Given the description of an element on the screen output the (x, y) to click on. 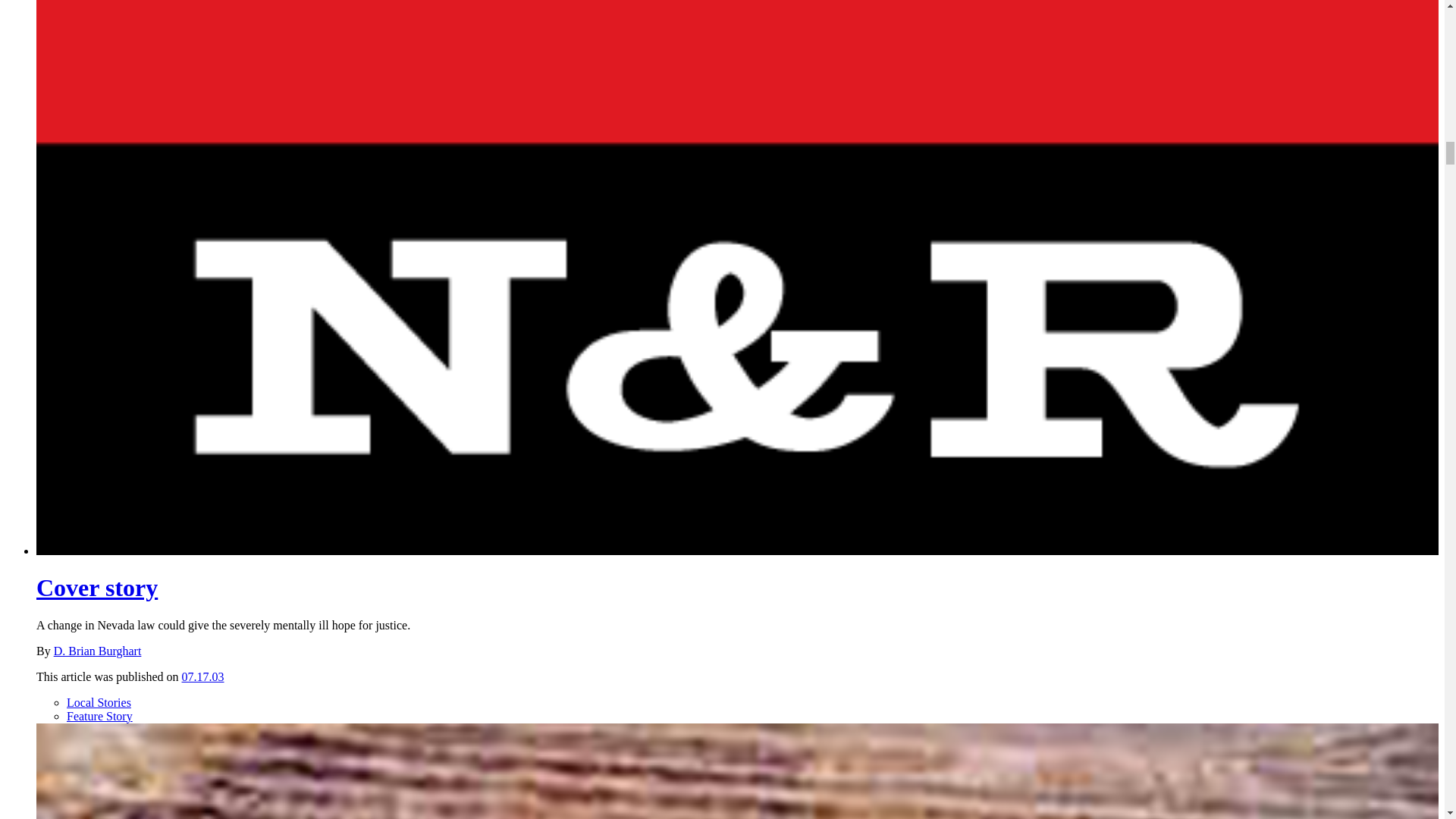
Local Stories (98, 702)
Feature Story (99, 716)
07.17.03 (203, 676)
Cover story (96, 587)
D. Brian Burghart (97, 650)
